Given the description of an element on the screen output the (x, y) to click on. 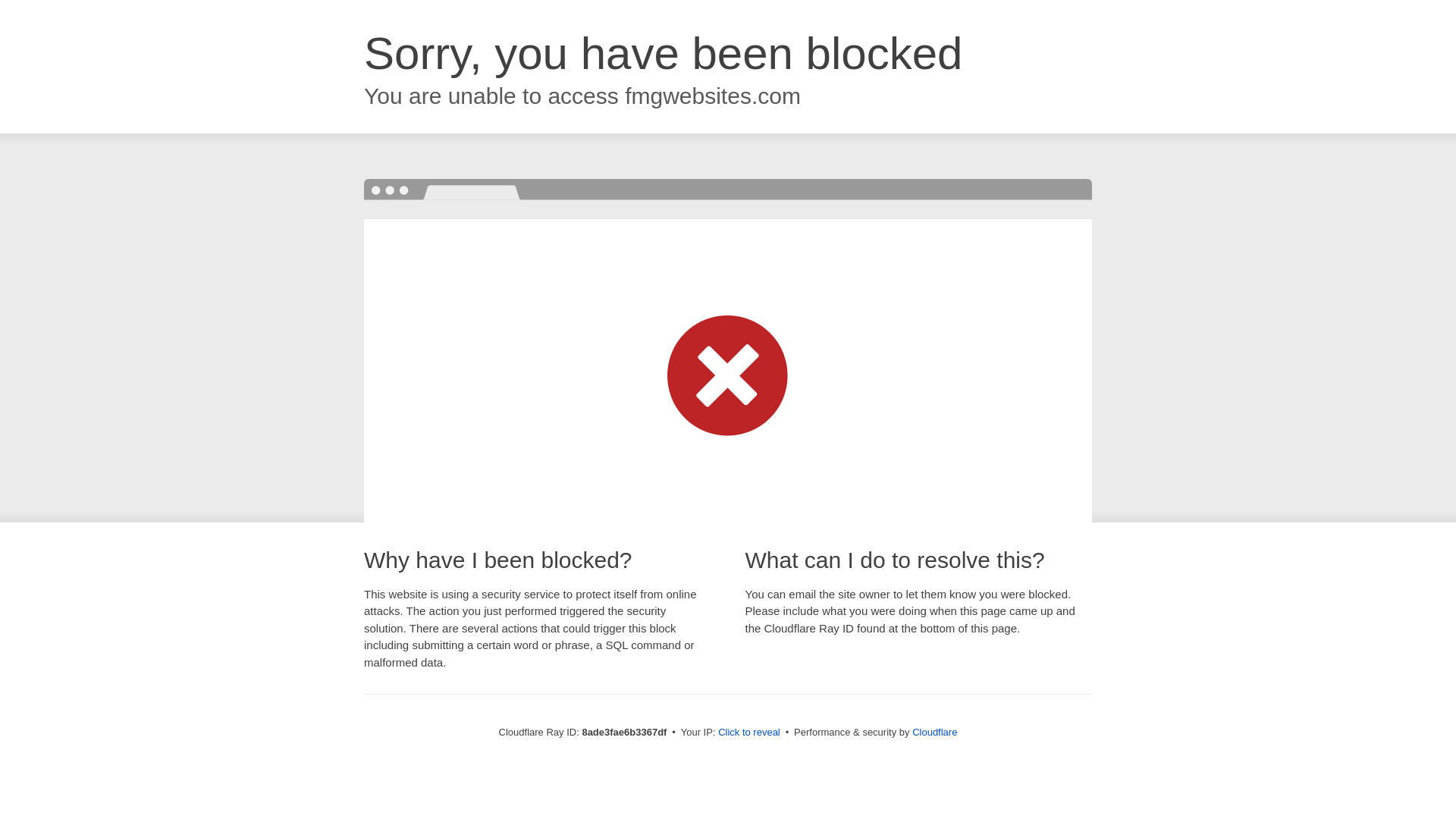
Cloudflare (934, 731)
Click to reveal (748, 732)
